Given the description of an element on the screen output the (x, y) to click on. 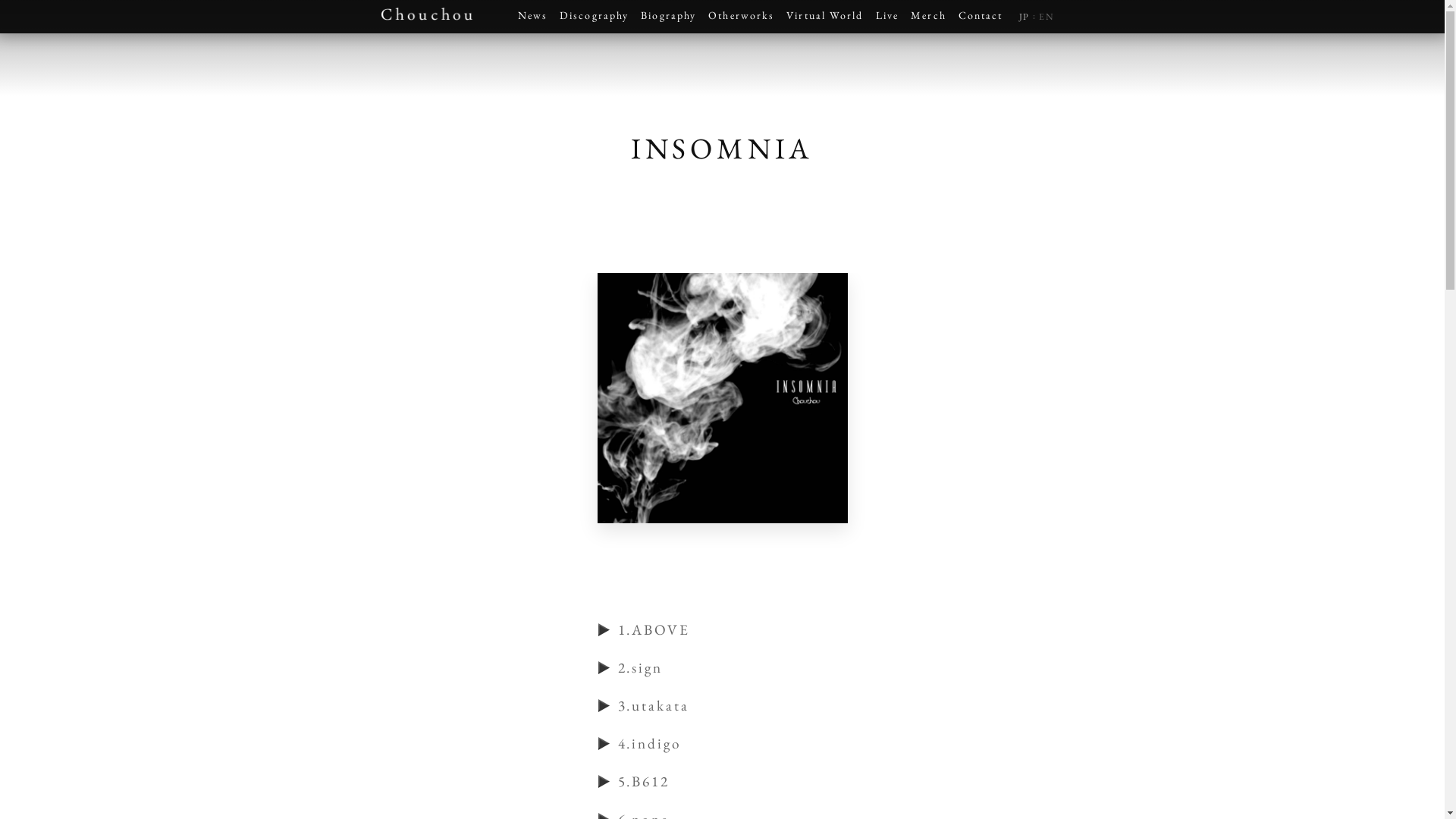
play Element type: text (604, 629)
Discography Element type: text (593, 15)
play Element type: text (604, 743)
Merch Element type: text (928, 15)
Otherworks Element type: text (741, 15)
News Element type: text (531, 15)
Biography Element type: text (668, 15)
Contact Element type: text (980, 15)
Live Element type: text (886, 15)
Chouchou Element type: hover (425, 13)
play Element type: text (604, 705)
Virtual World Element type: text (824, 15)
play Element type: text (604, 667)
play Element type: text (604, 781)
